Given the description of an element on the screen output the (x, y) to click on. 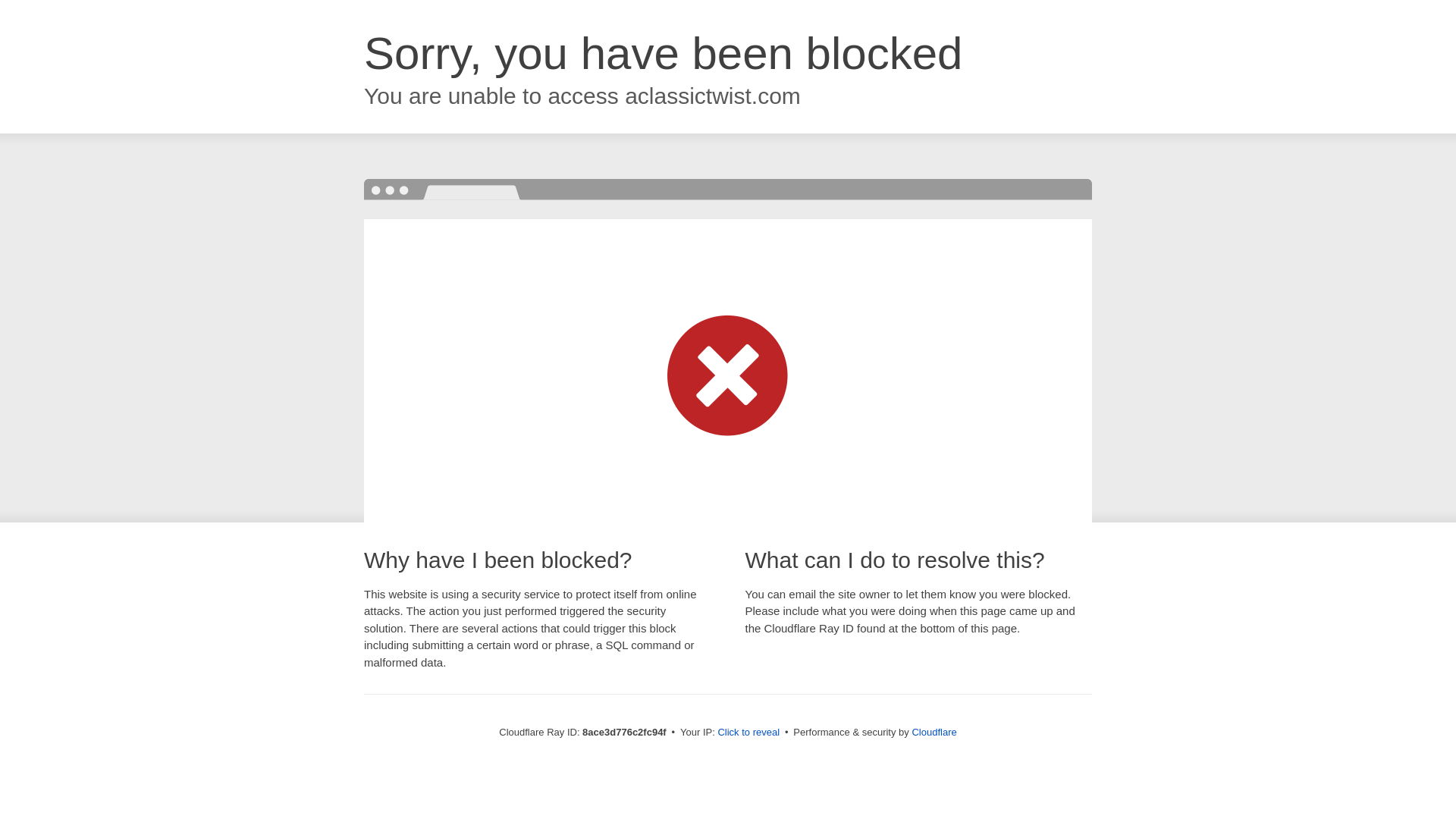
Cloudflare (933, 731)
Click to reveal (747, 732)
